Given the description of an element on the screen output the (x, y) to click on. 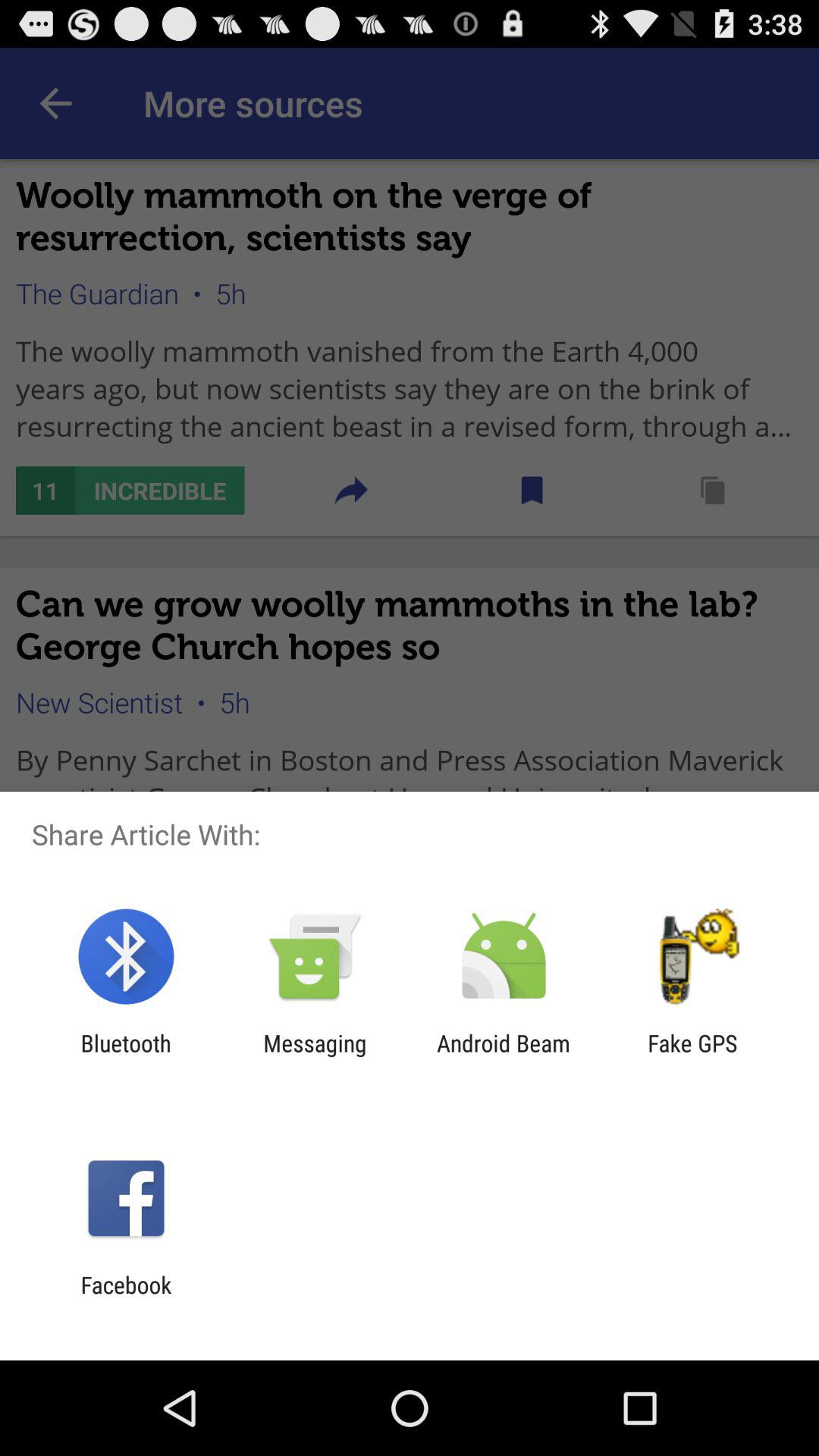
choose the app next to the android beam (692, 1056)
